Given the description of an element on the screen output the (x, y) to click on. 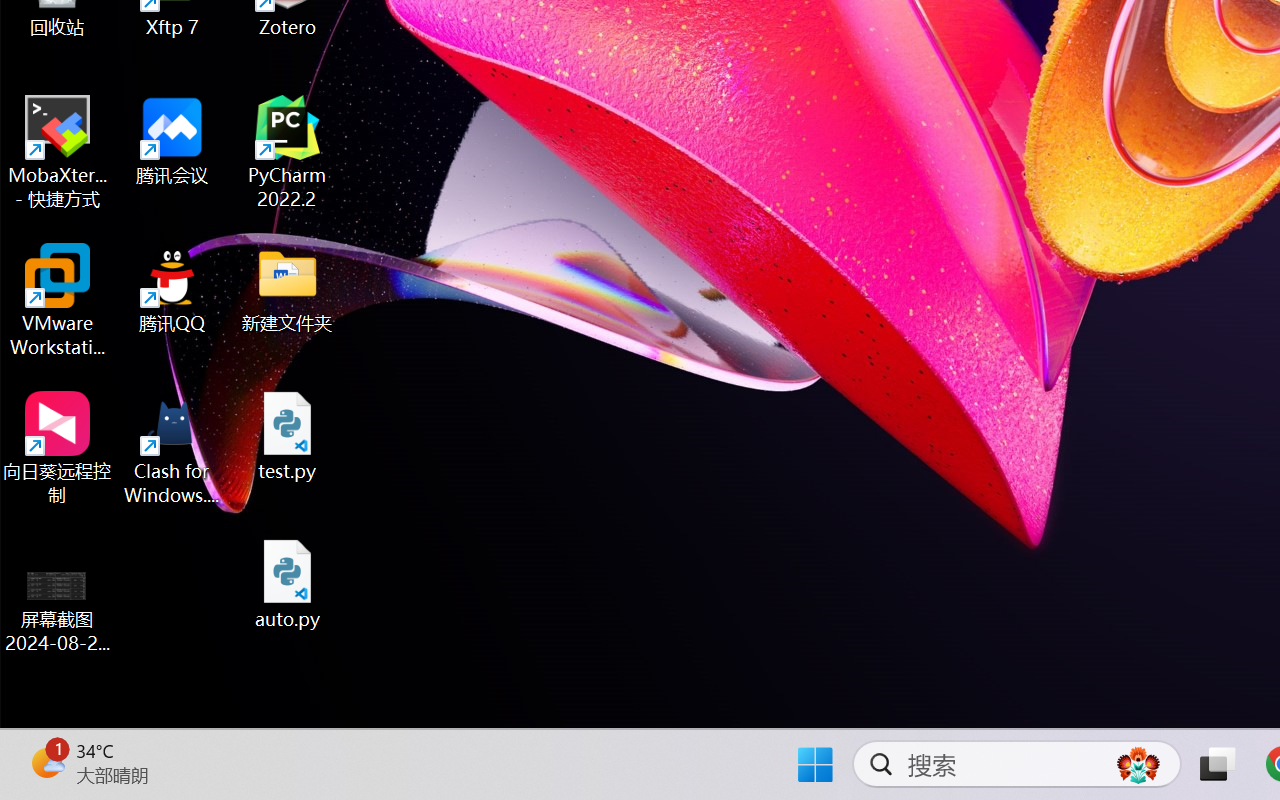
PyCharm 2022.2 (287, 152)
